Given the description of an element on the screen output the (x, y) to click on. 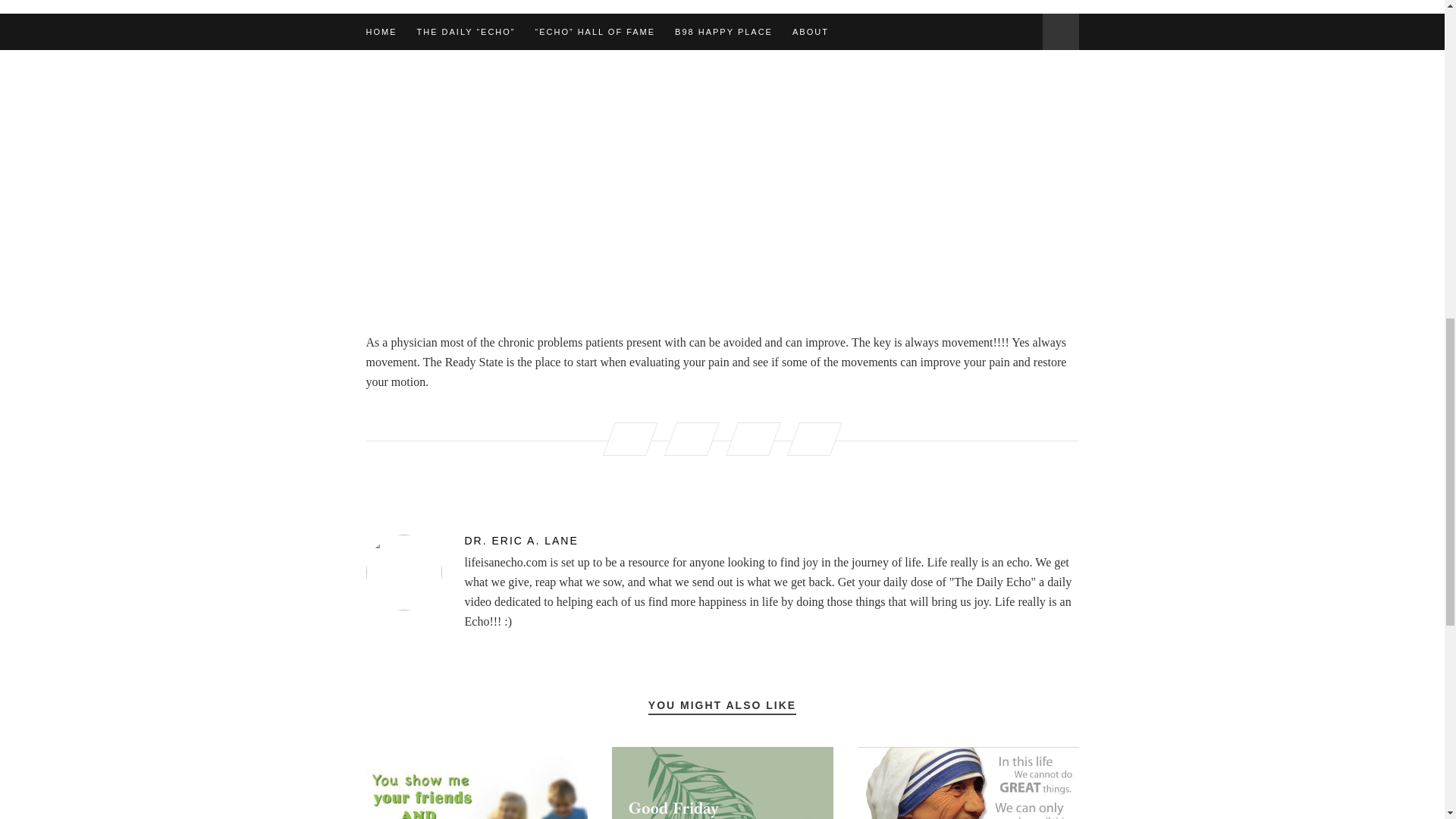
Posts by Dr. Eric A. Lane (721, 540)
DR. ERIC A. LANE (721, 540)
